Given the description of an element on the screen output the (x, y) to click on. 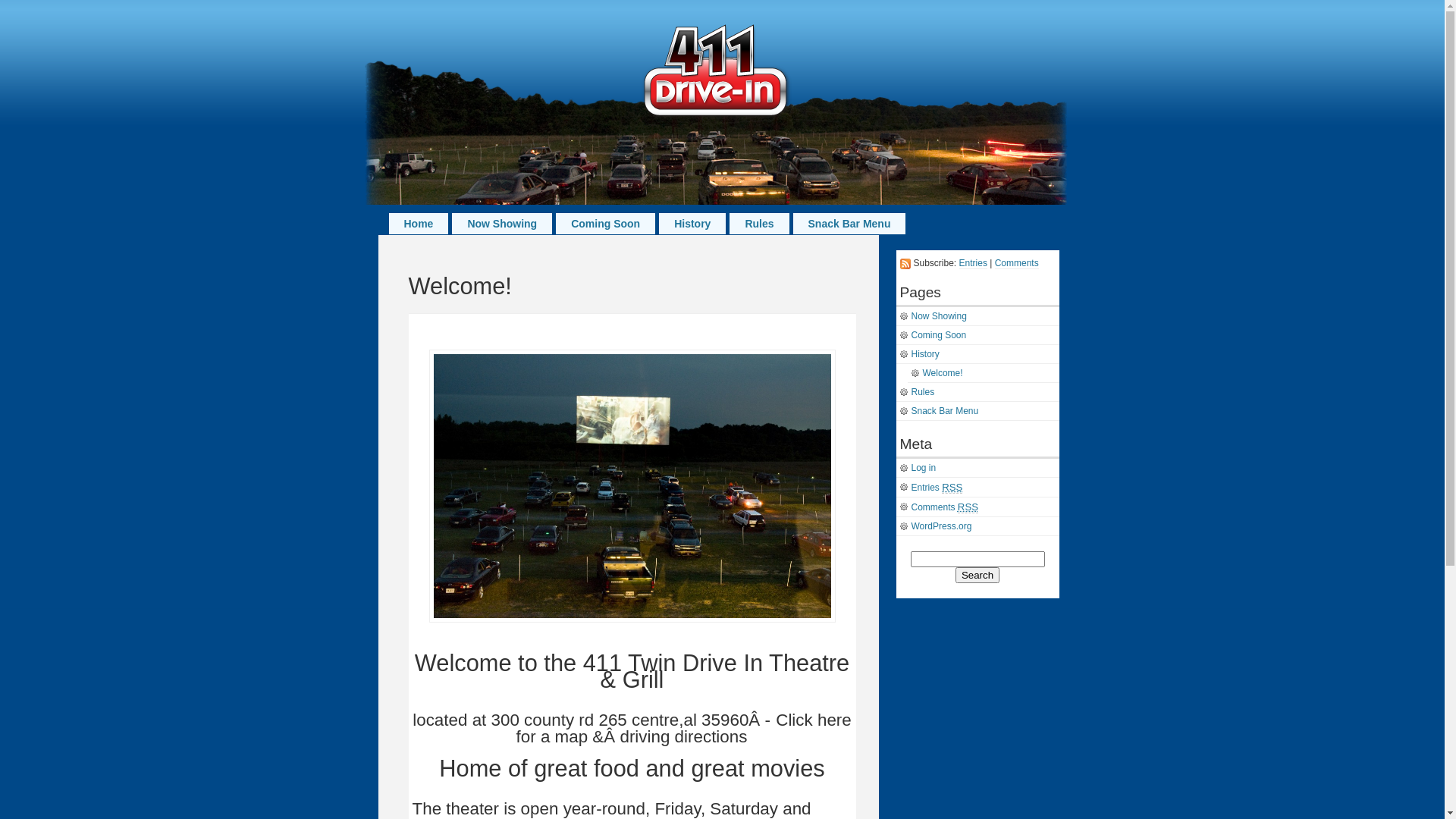
Coming Soon Element type: text (977, 335)
Home Element type: text (418, 223)
Rules Element type: text (977, 391)
Log in Element type: text (977, 467)
History Element type: text (691, 223)
Now Showing Element type: text (977, 316)
History Element type: text (977, 354)
Coming Soon Element type: text (605, 223)
Comments Element type: text (1016, 263)
Entries Element type: text (973, 263)
Search Element type: text (977, 575)
Snack Bar Menu Element type: text (849, 223)
Comments RSS Element type: text (977, 507)
Entries RSS Element type: text (977, 487)
WordPress.org Element type: text (977, 526)
Welcome! Element type: text (982, 373)
Now Showing Element type: text (501, 223)
Snack Bar Menu Element type: text (977, 410)
20090607-_CD31404 Element type: hover (632, 485)
Rules Element type: text (758, 223)
